Given the description of an element on the screen output the (x, y) to click on. 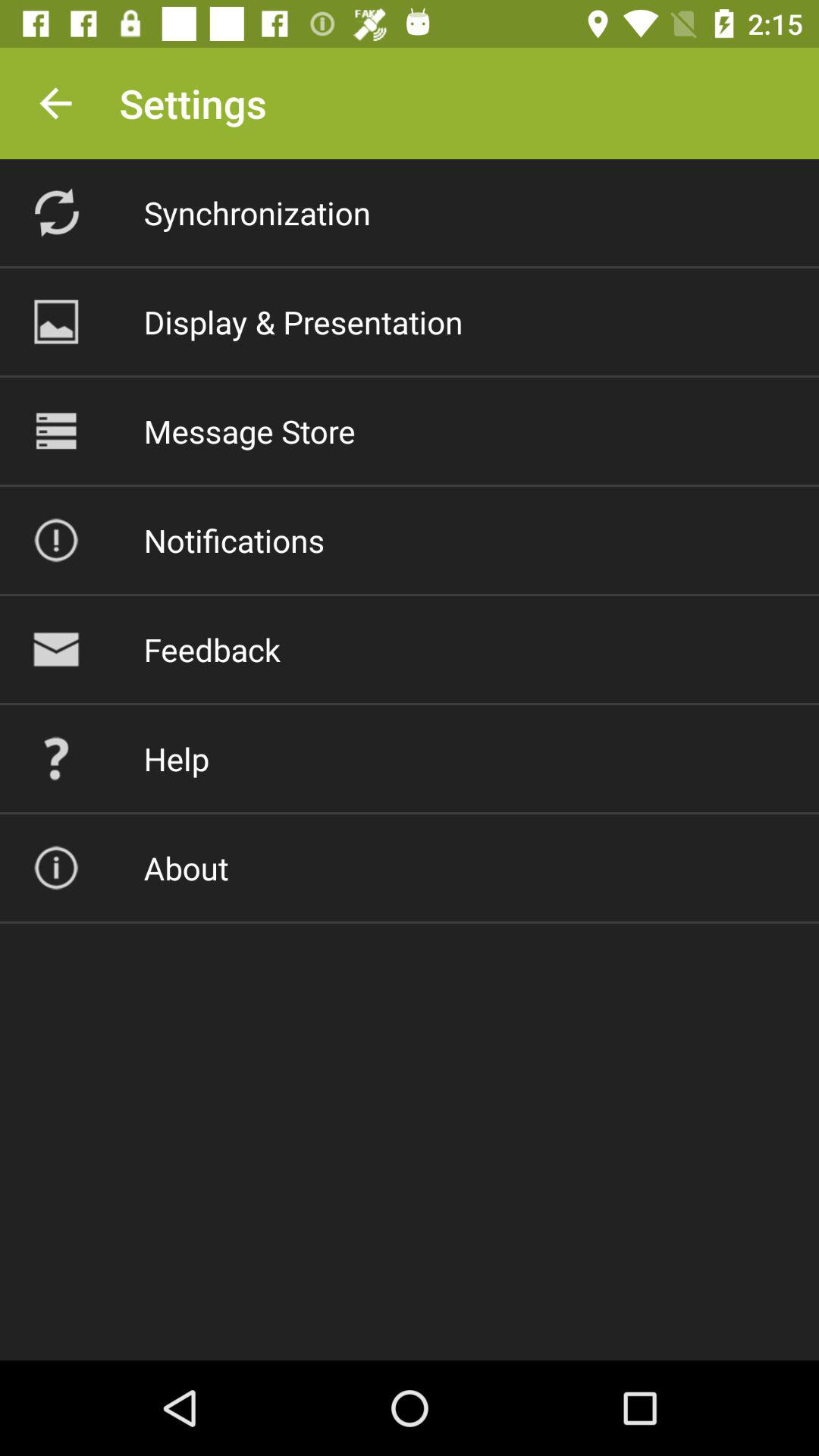
tap item below help (185, 867)
